Given the description of an element on the screen output the (x, y) to click on. 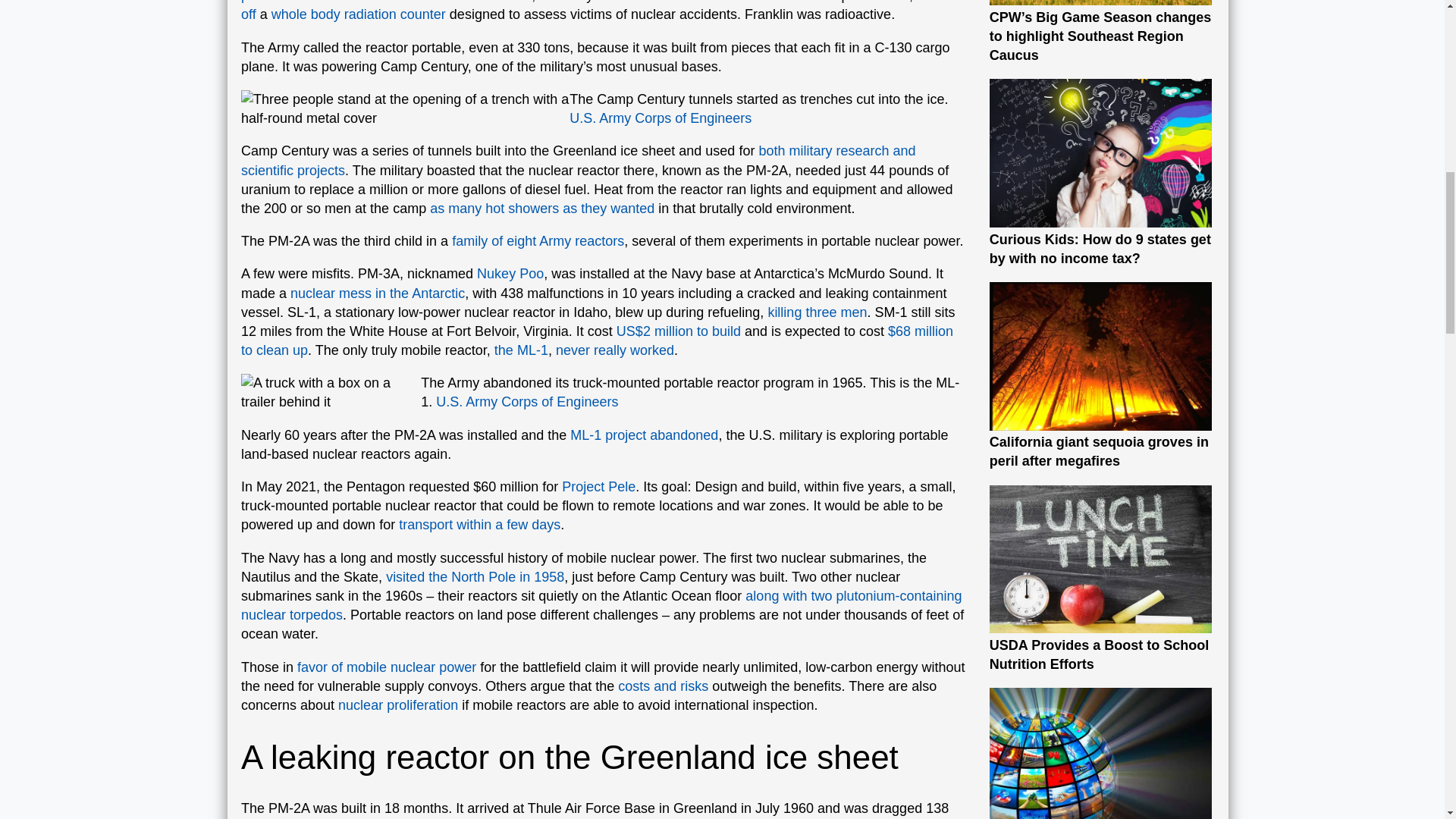
he set off (597, 11)
killing three men (816, 312)
whole body radiation counter (357, 14)
U.S. Army Corps of Engineers (526, 401)
the ML-1 (521, 350)
costs and risks (662, 685)
Project Pele (598, 486)
ML-1 project abandoned (643, 435)
U.S. Army Corps of Engineers (660, 118)
nuclear mess in the Antarctic (376, 293)
nuclear proliferation (397, 704)
never really worked (615, 350)
